Given the description of an element on the screen output the (x, y) to click on. 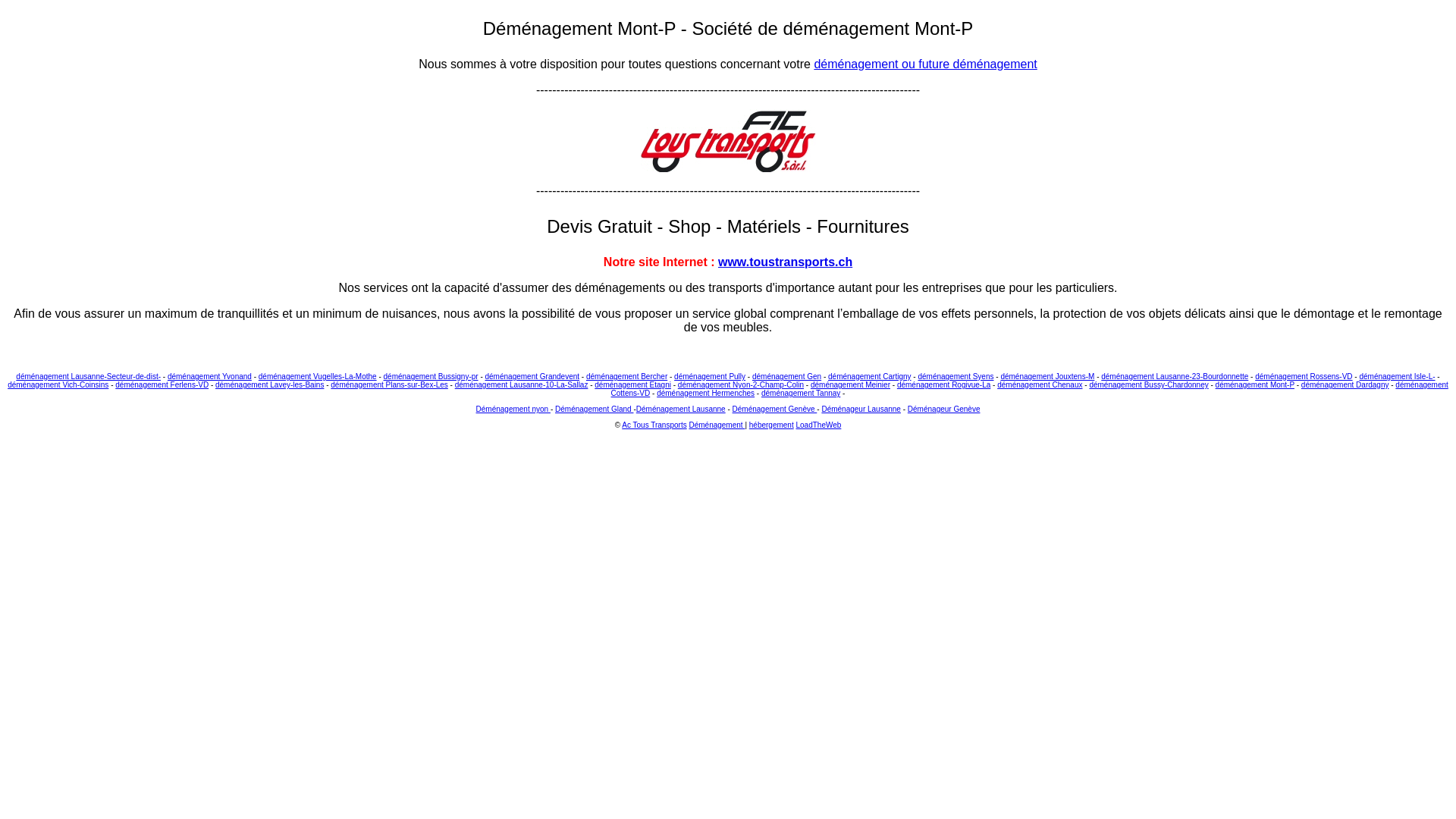
Ac Tous Transports Element type: text (653, 424)
www.toustransports.ch Element type: text (785, 261)
LoadTheWeb Element type: text (818, 424)
